Given the description of an element on the screen output the (x, y) to click on. 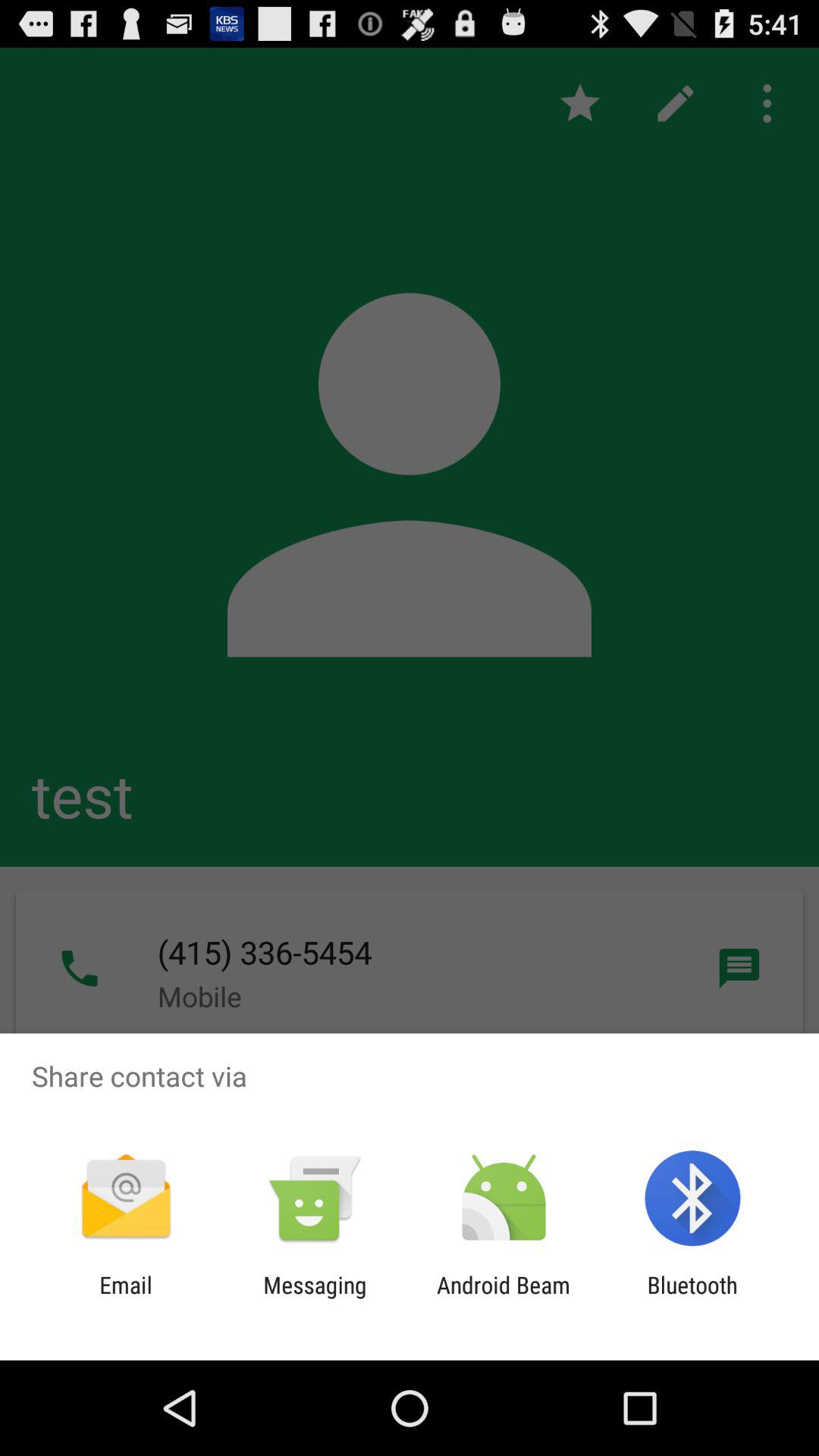
select app to the right of email (314, 1298)
